Given the description of an element on the screen output the (x, y) to click on. 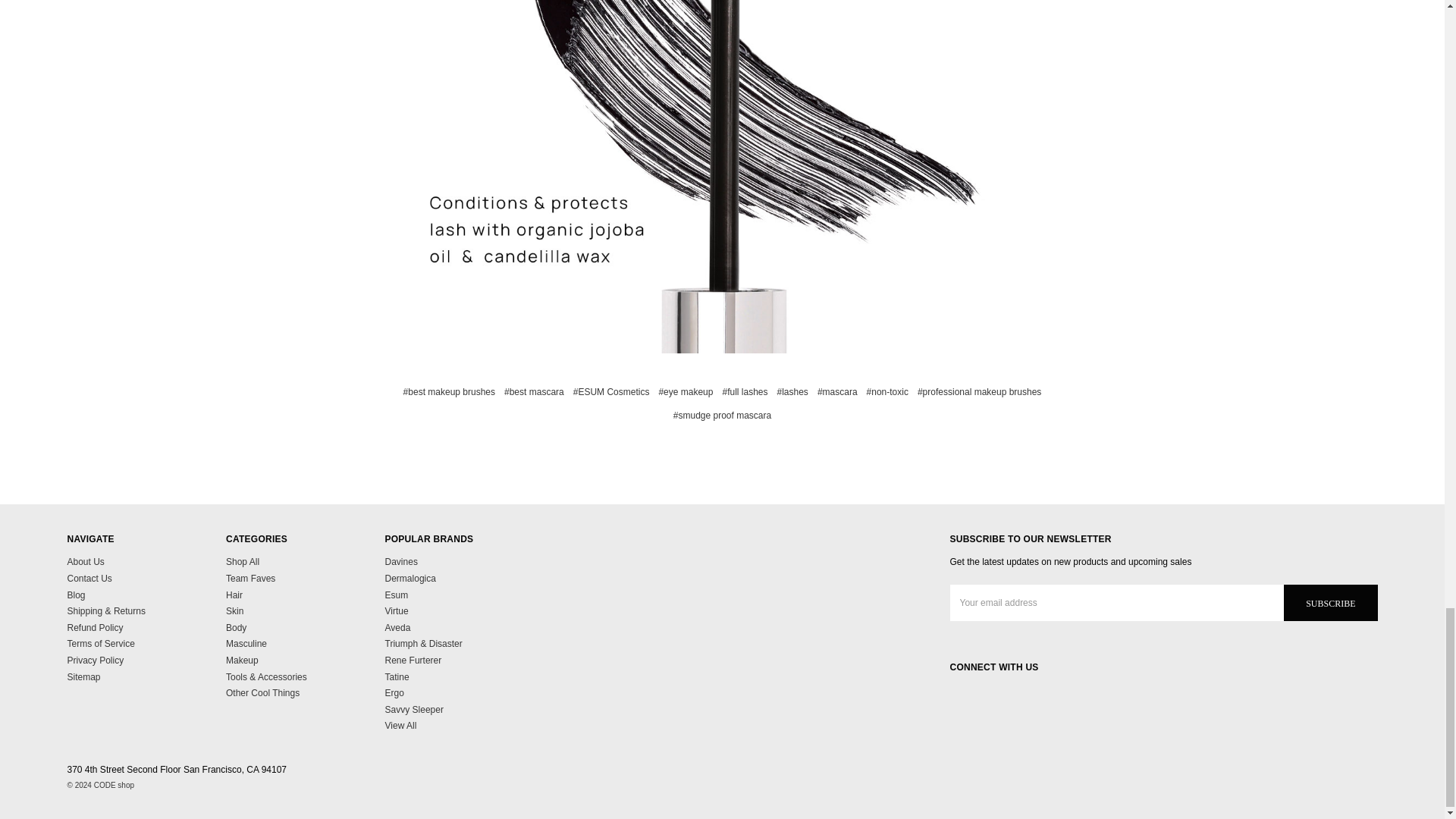
Subscribe (1330, 602)
